Given the description of an element on the screen output the (x, y) to click on. 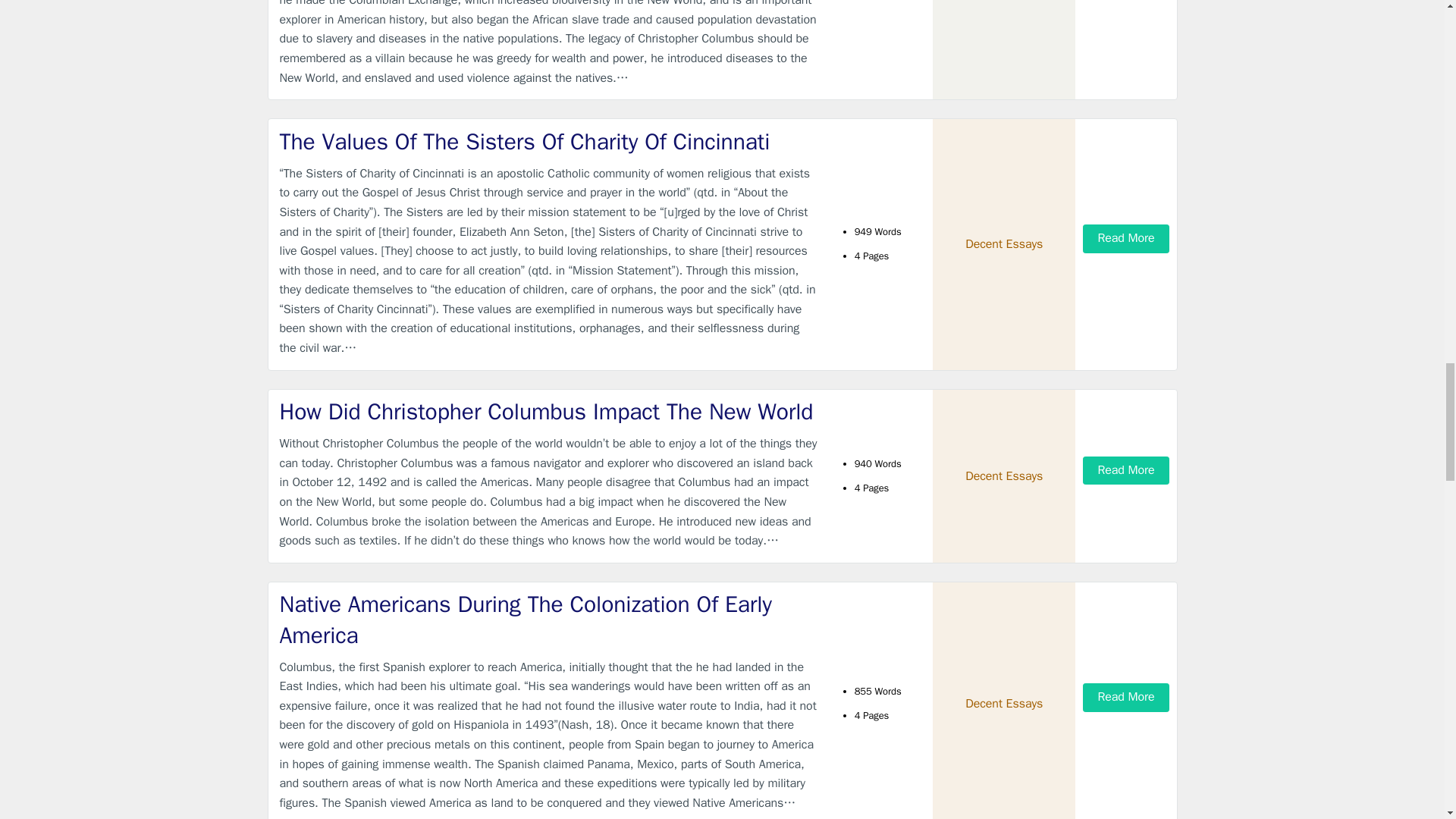
Read More (1126, 697)
The Values Of The Sisters Of Charity Of Cincinnati (548, 142)
Read More (1126, 470)
Native Americans During The Colonization Of Early America (548, 619)
How Did Christopher Columbus Impact The New World (548, 411)
Read More (1126, 238)
